Given the description of an element on the screen output the (x, y) to click on. 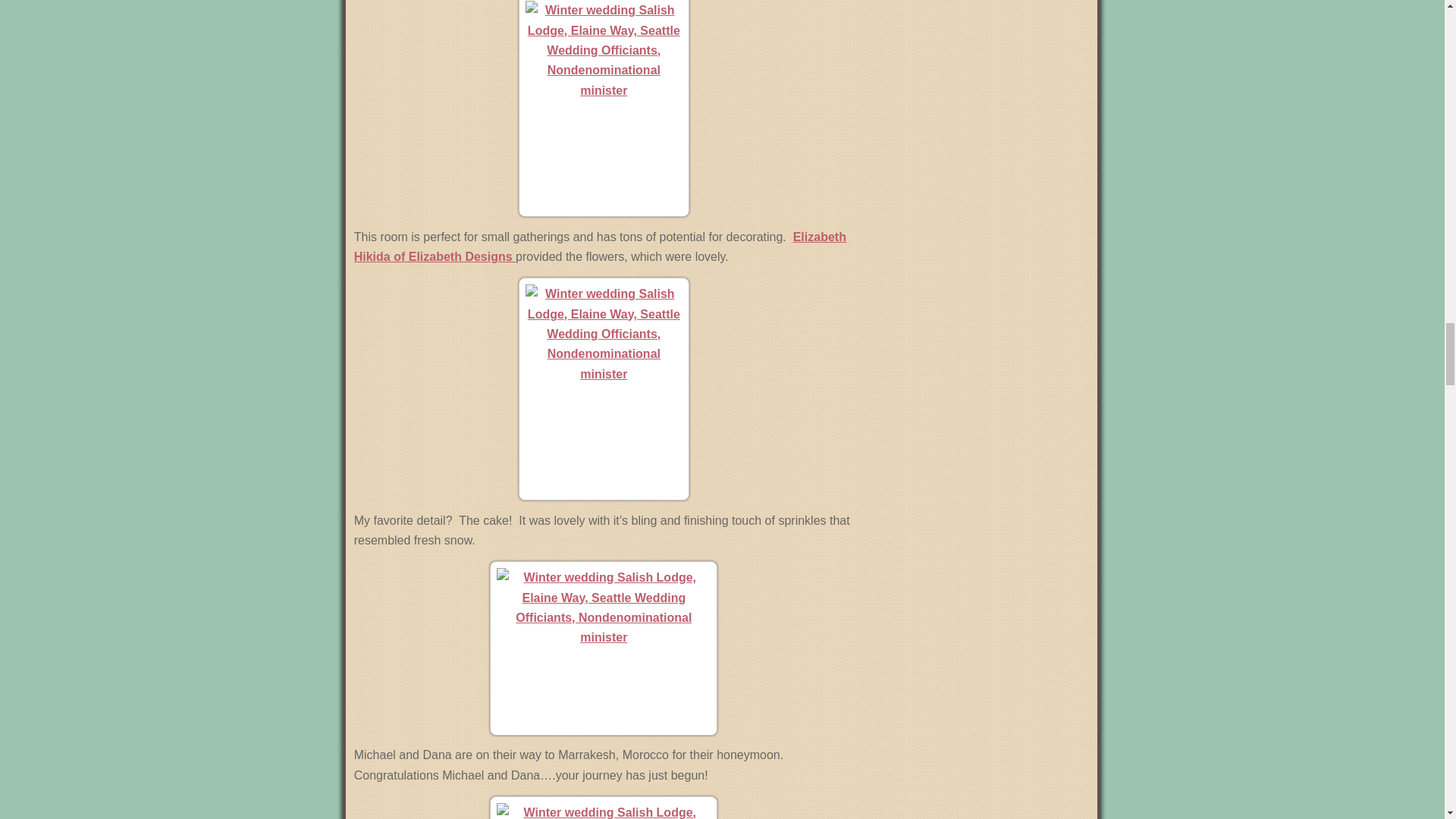
Elizabeth Designs Floral (599, 246)
